Given the description of an element on the screen output the (x, y) to click on. 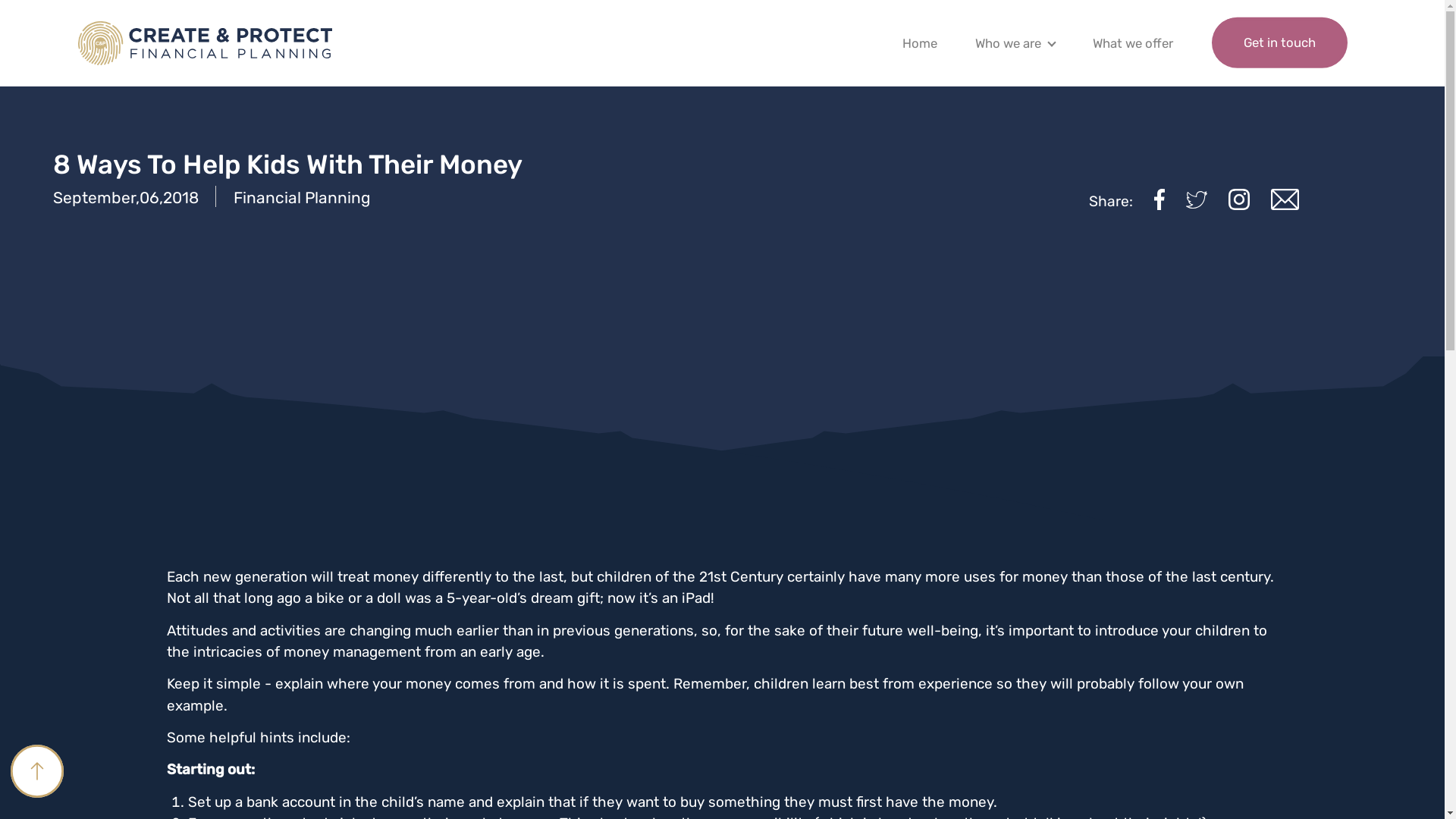
Get in touch Element type: text (1279, 42)
Home Element type: text (919, 47)
Twitter Element type: hover (1196, 198)
What we offer Element type: text (1132, 47)
Who we are Element type: text (1008, 47)
Instagram Element type: hover (1238, 198)
Facebook Element type: hover (1159, 198)
Mail Element type: hover (1284, 198)
